Given the description of an element on the screen output the (x, y) to click on. 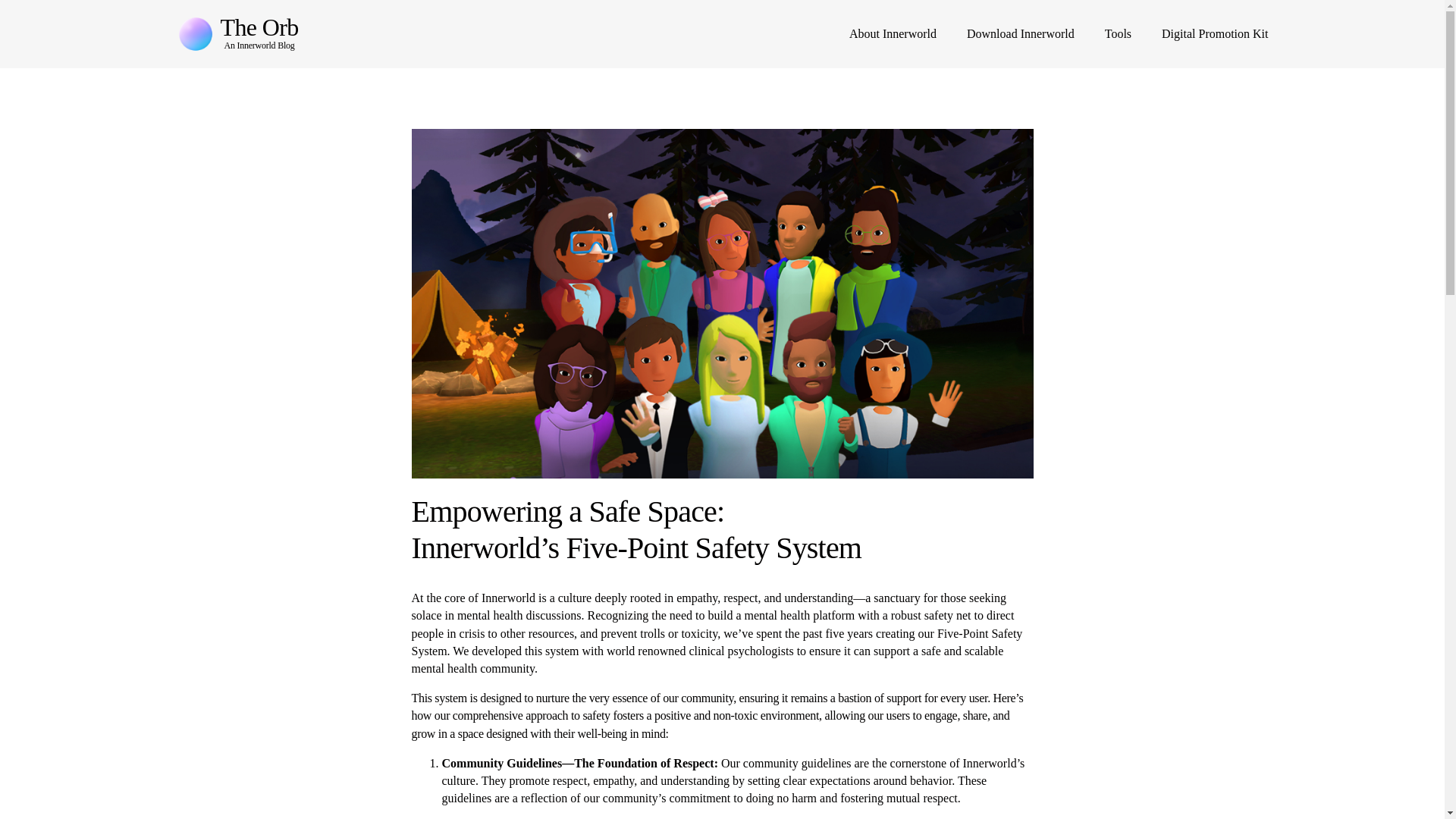
About Innerworld (892, 33)
The Orb (258, 26)
Digital Promotion Kit (1214, 33)
Download Innerworld (1020, 33)
Tools (1118, 33)
